Given the description of an element on the screen output the (x, y) to click on. 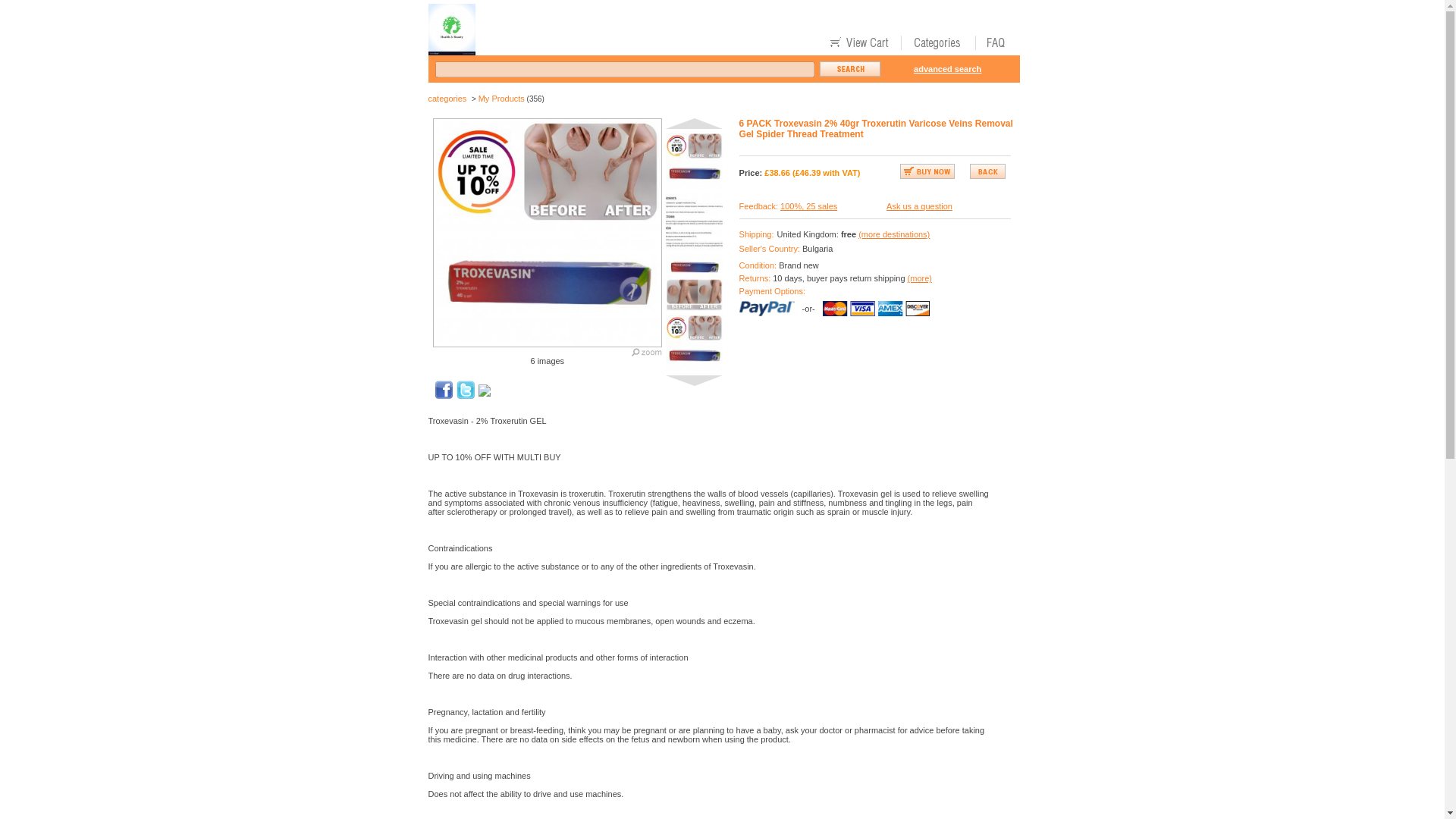
Ask us a question (919, 205)
My Products (501, 98)
categories (446, 98)
advanced search (947, 68)
